Given the description of an element on the screen output the (x, y) to click on. 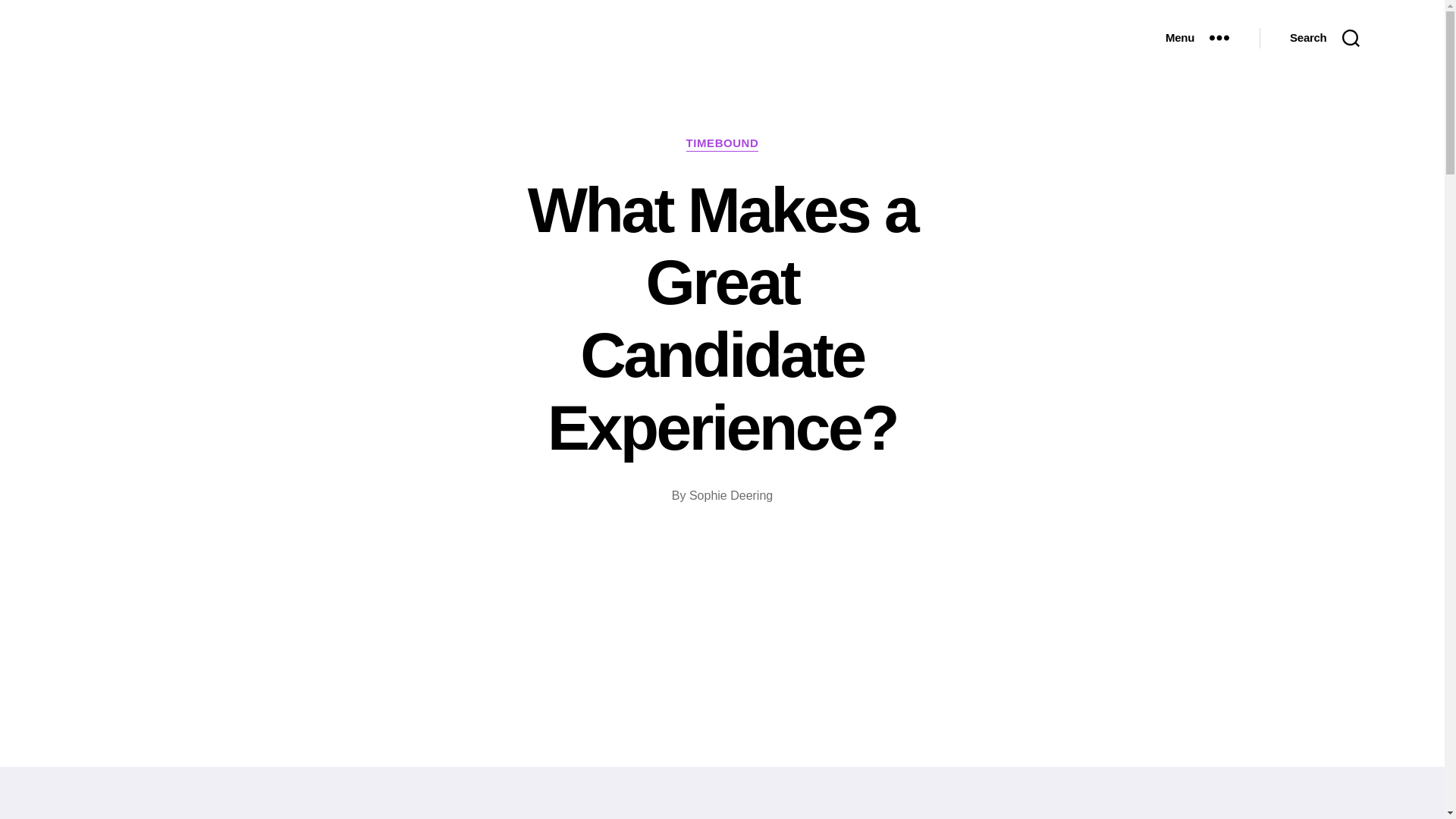
Search (1324, 37)
Menu (1197, 37)
Sophie Deering (730, 495)
TIMEBOUND (721, 143)
